Given the description of an element on the screen output the (x, y) to click on. 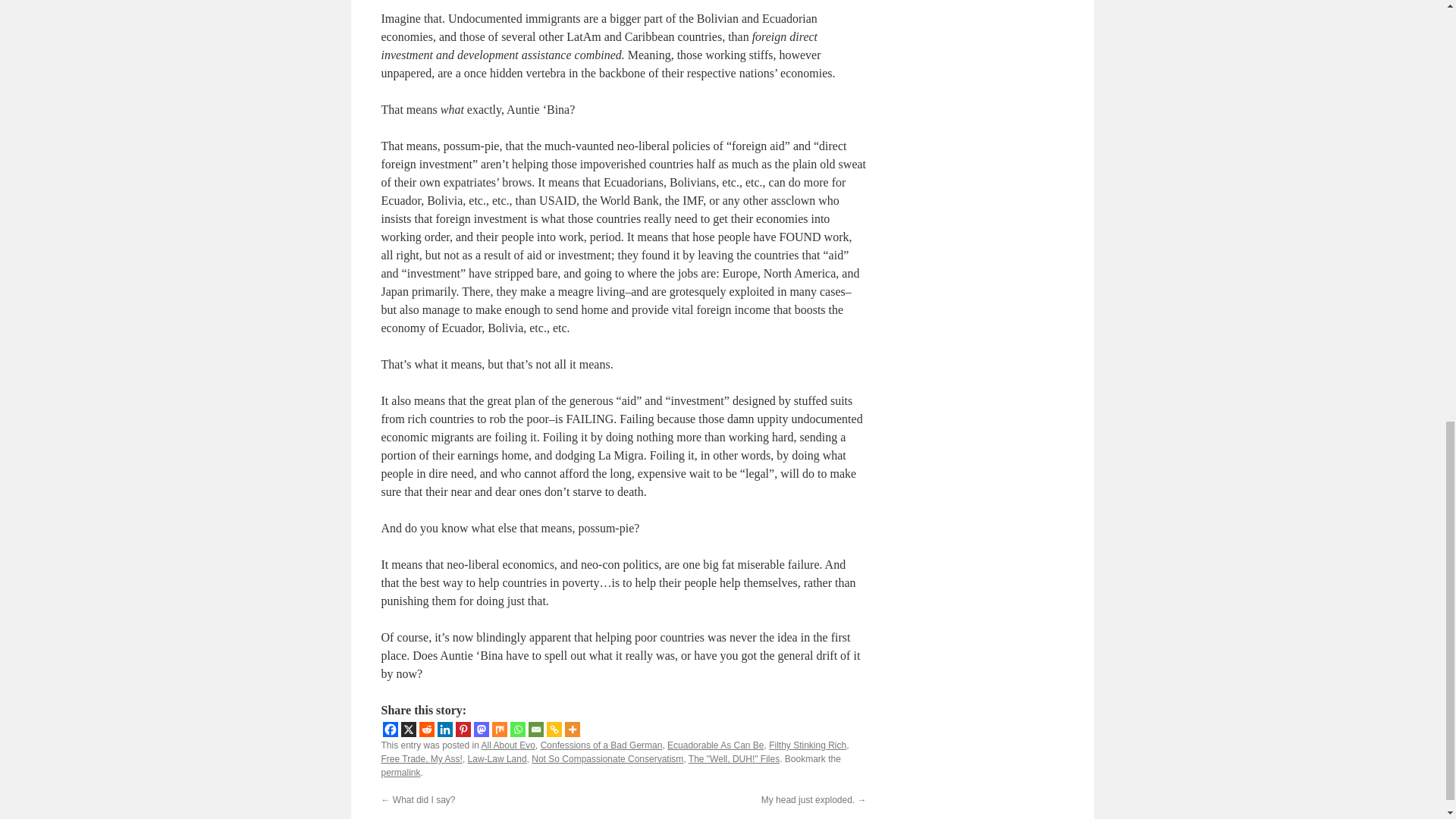
Ecuadorable As Can Be (714, 745)
Permalink to Why the EU wants to punish economic migrants (400, 772)
Free Trade, My Ass! (420, 758)
Linkedin (443, 729)
Mix (499, 729)
Email (535, 729)
X (407, 729)
Filthy Stinking Rich (806, 745)
permalink (400, 772)
The "Well, DUH!" Files (733, 758)
